Given the description of an element on the screen output the (x, y) to click on. 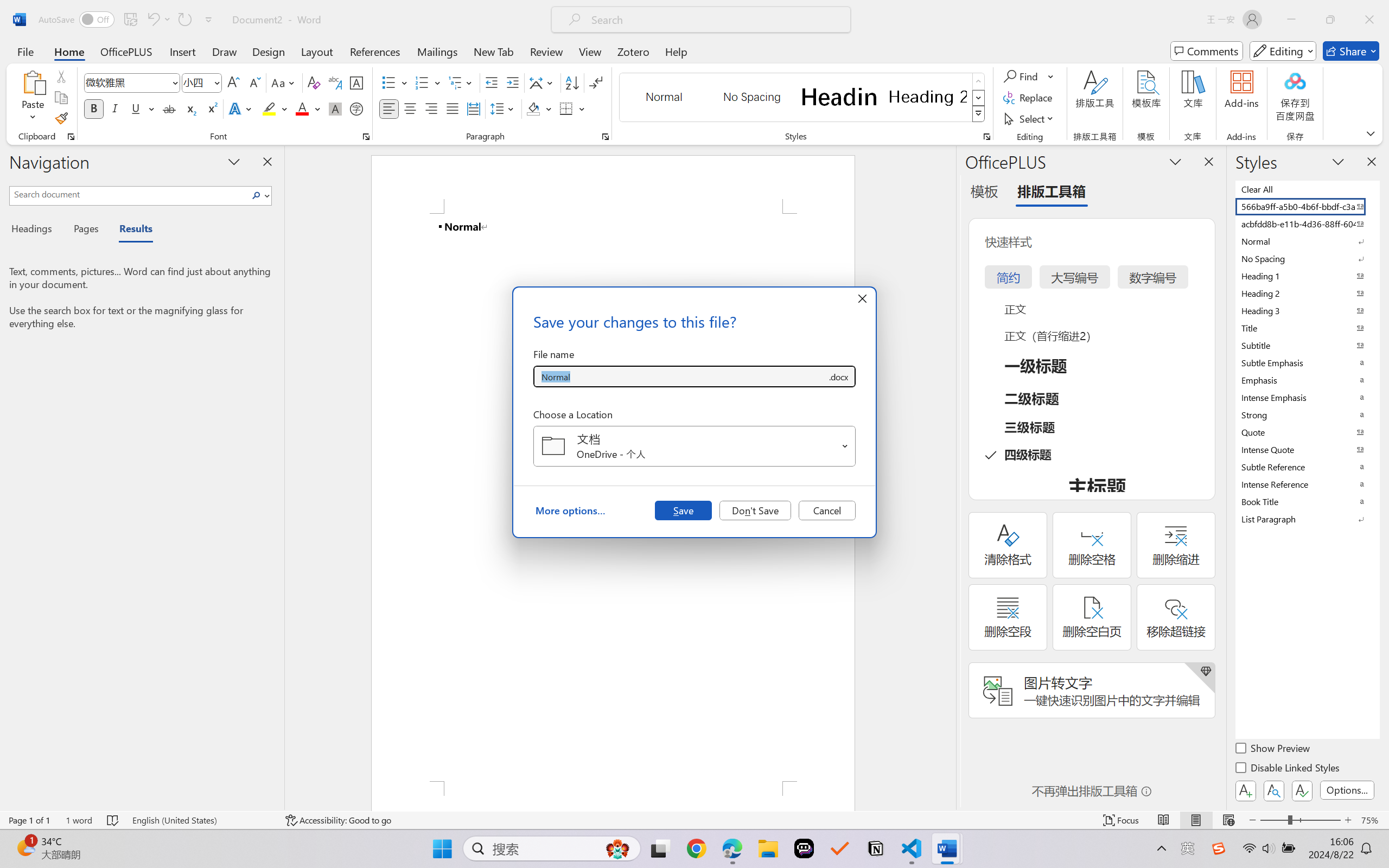
More Options (1051, 75)
View (589, 51)
Don't Save (755, 509)
Heading 1 (839, 96)
Options... (1346, 789)
Shrink Font (253, 82)
Save as type (837, 376)
Undo <ApplyStyleToDoc>b__0 (152, 19)
Bullets (388, 82)
Center (409, 108)
